Given the description of an element on the screen output the (x, y) to click on. 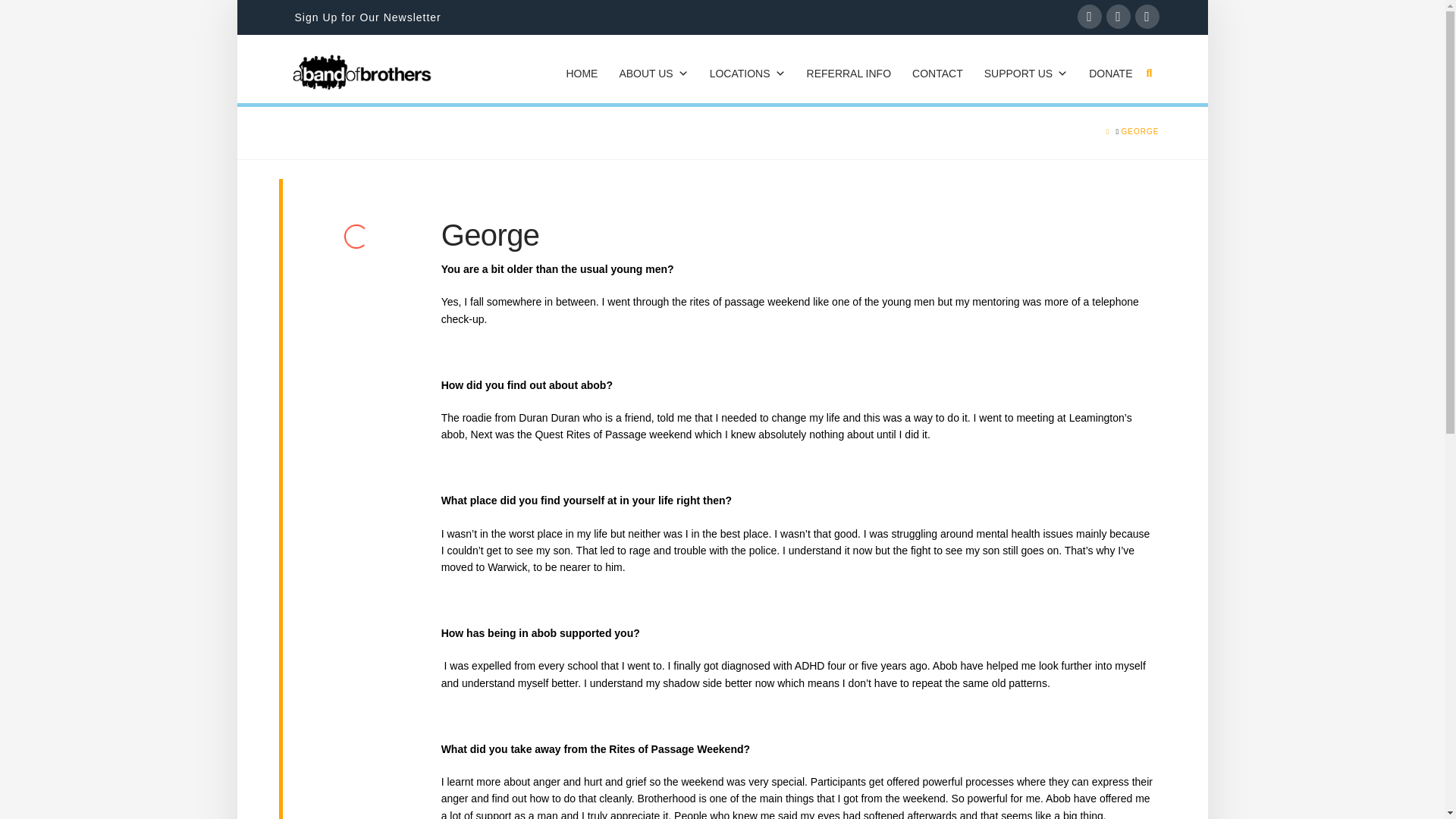
Instagram (1146, 16)
LOCATIONS (747, 73)
Facebook (1088, 16)
REFERRAL INFO (849, 73)
ABOUT US (653, 73)
SUPPORT US (1025, 73)
Sign Up for Our Newsletter (367, 17)
HOME (581, 73)
CONTACT (937, 73)
You Are Here (1139, 131)
